Given the description of an element on the screen output the (x, y) to click on. 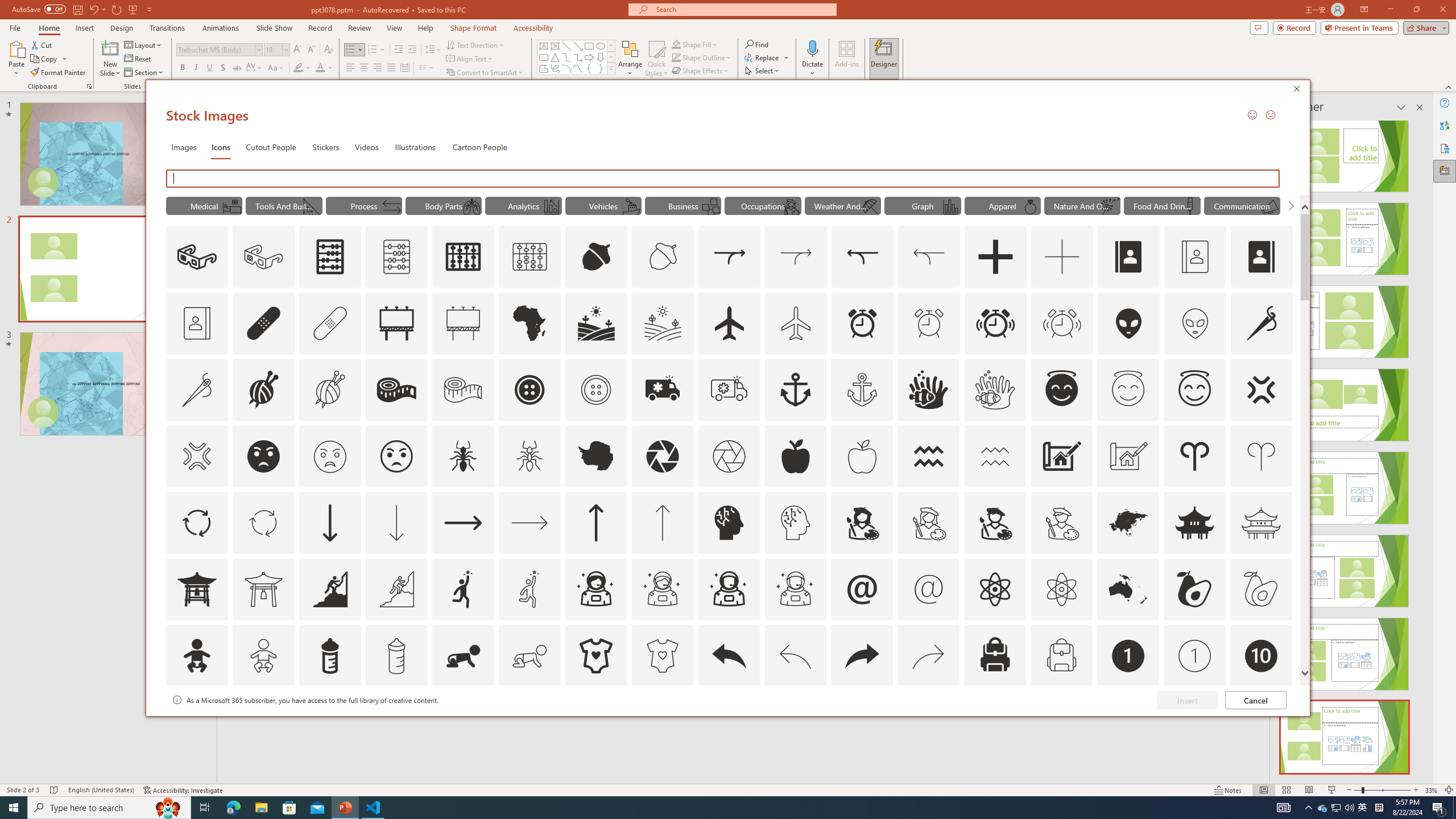
AutomationID: Icons_Back_RTL (861, 655)
"Medical" Icons. (203, 205)
Videos (366, 146)
AutomationID: Icons_Avocado_M (1260, 588)
AutomationID: Icons_Advertising (397, 323)
AutomationID: Icons_Acquisition_RTL (863, 256)
AutomationID: Icons_Badge4_M (595, 721)
Stickers (326, 146)
